Given the description of an element on the screen output the (x, y) to click on. 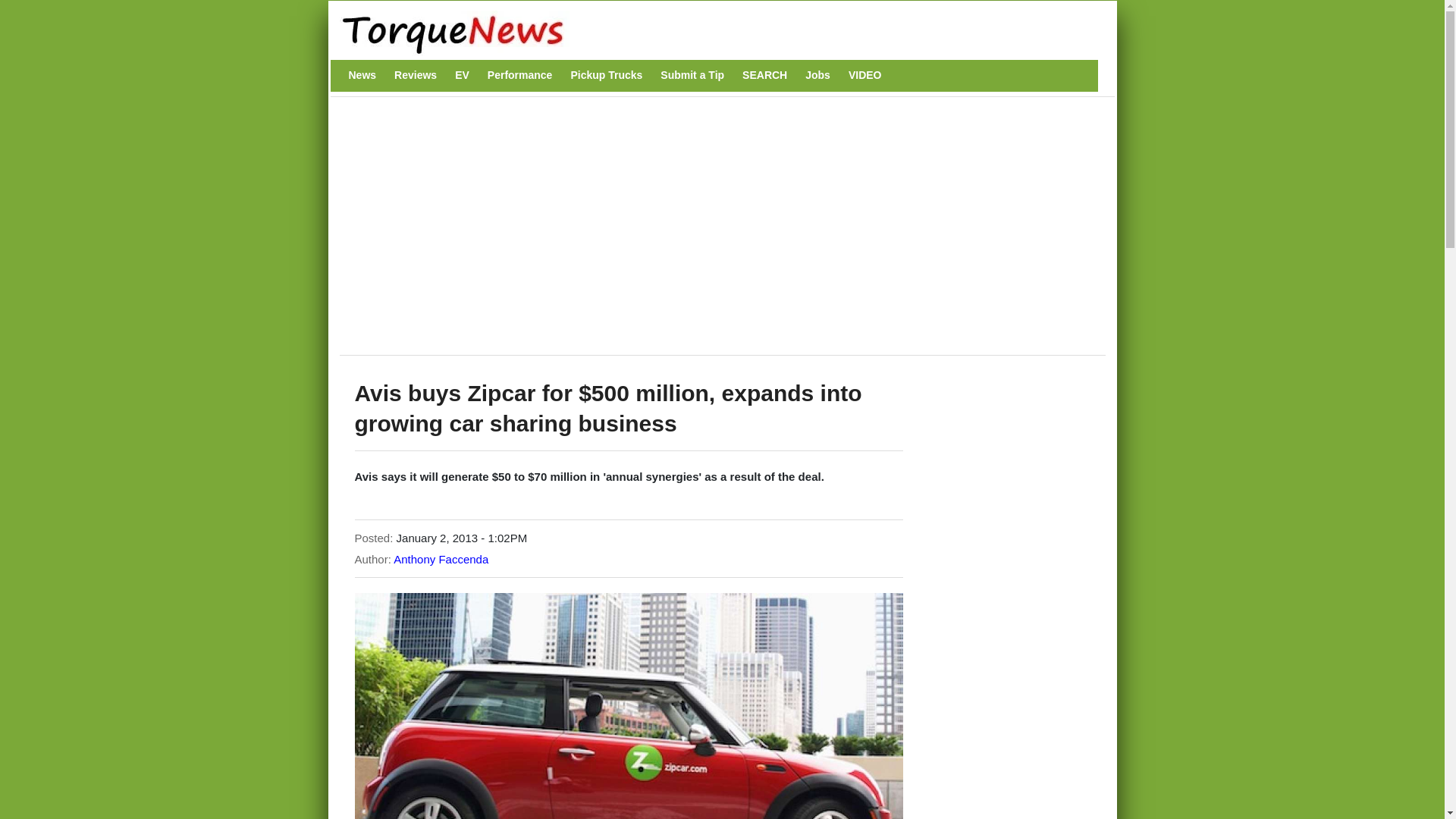
Anthony Faccenda (440, 558)
Submit a Tip (691, 75)
Reviews (415, 75)
Home (713, 32)
SEARCH (764, 75)
VIDEO (865, 75)
Advertisement (624, 233)
Automotive journalism jobs and careers are TorqueNews.com. (817, 75)
News (362, 75)
